Given the description of an element on the screen output the (x, y) to click on. 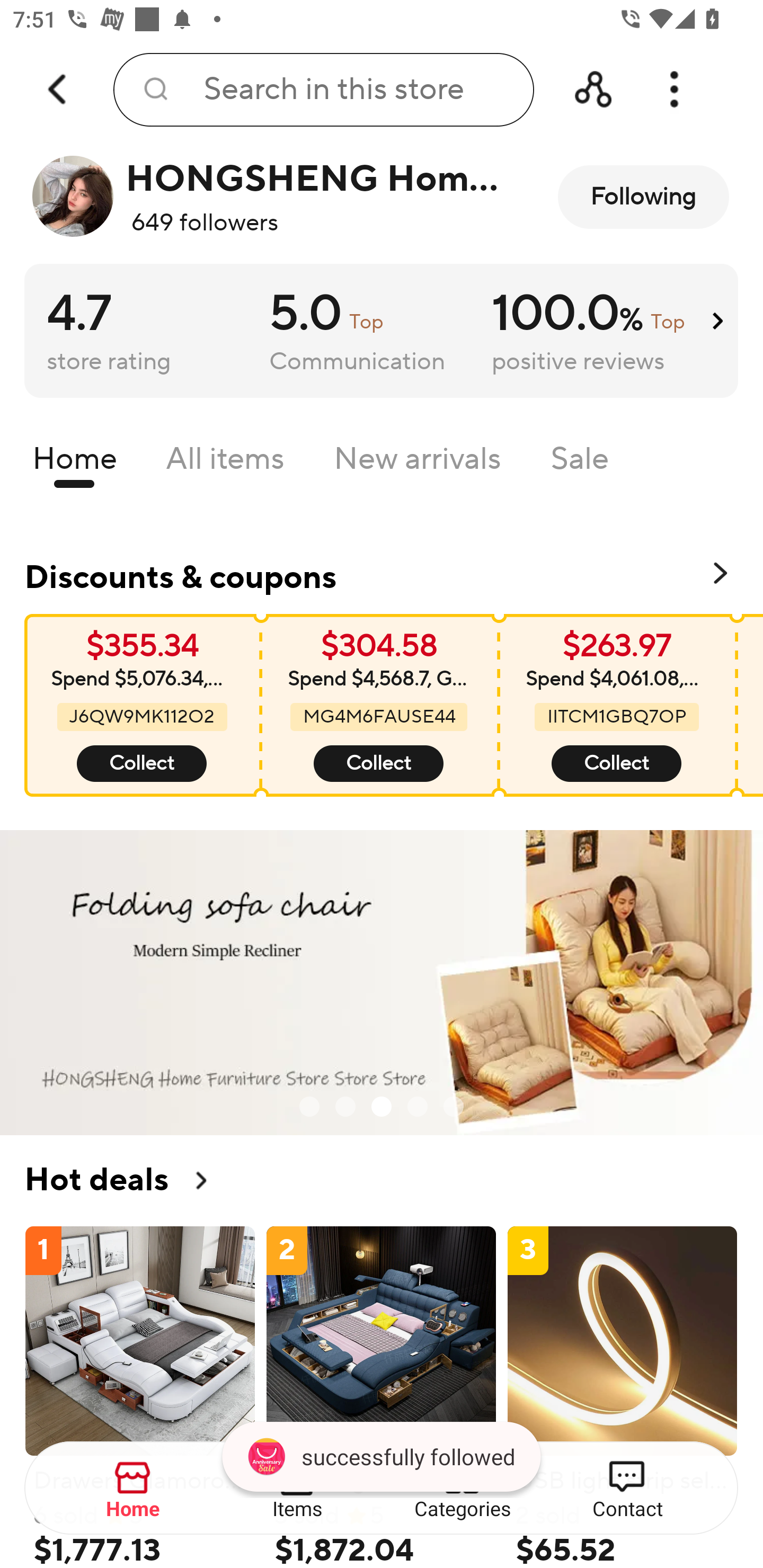
Search in this store (323, 90)
HONGSHENG Hom…  649 followers (272, 196)
Following (643, 196)
Home (74, 463)
All items (225, 463)
New arrivals
 (418, 463)
Sale (579, 463)
Discounts & coupons (381, 573)
Collect (141, 763)
Collect (378, 763)
Collect (616, 763)
Hot deals (381, 1180)
Home (133, 1488)
Contact (627, 1488)
